Given the description of an element on the screen output the (x, y) to click on. 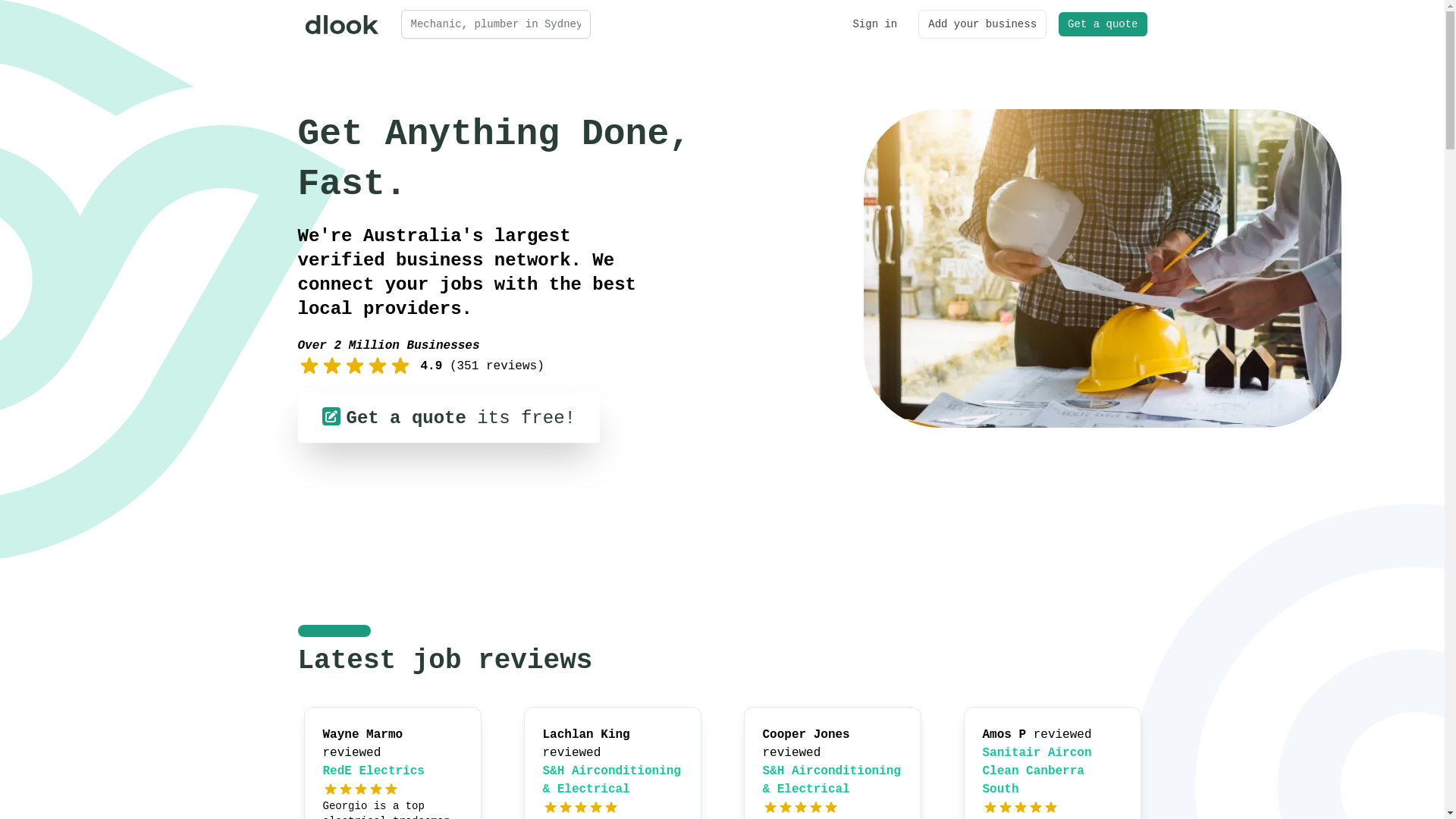
Get a quote Element type: text (1102, 24)
S&H Airconditioning & Electrical Element type: text (831, 780)
Add your business Element type: text (982, 23)
Get a quote its free! Element type: text (448, 417)
Sanitair Aircon Clean Canberra South Element type: text (1037, 771)
Sign in Element type: text (874, 23)
S&H Airconditioning & Electrical Element type: text (611, 780)
RedE Electrics Element type: text (373, 771)
